Given the description of an element on the screen output the (x, y) to click on. 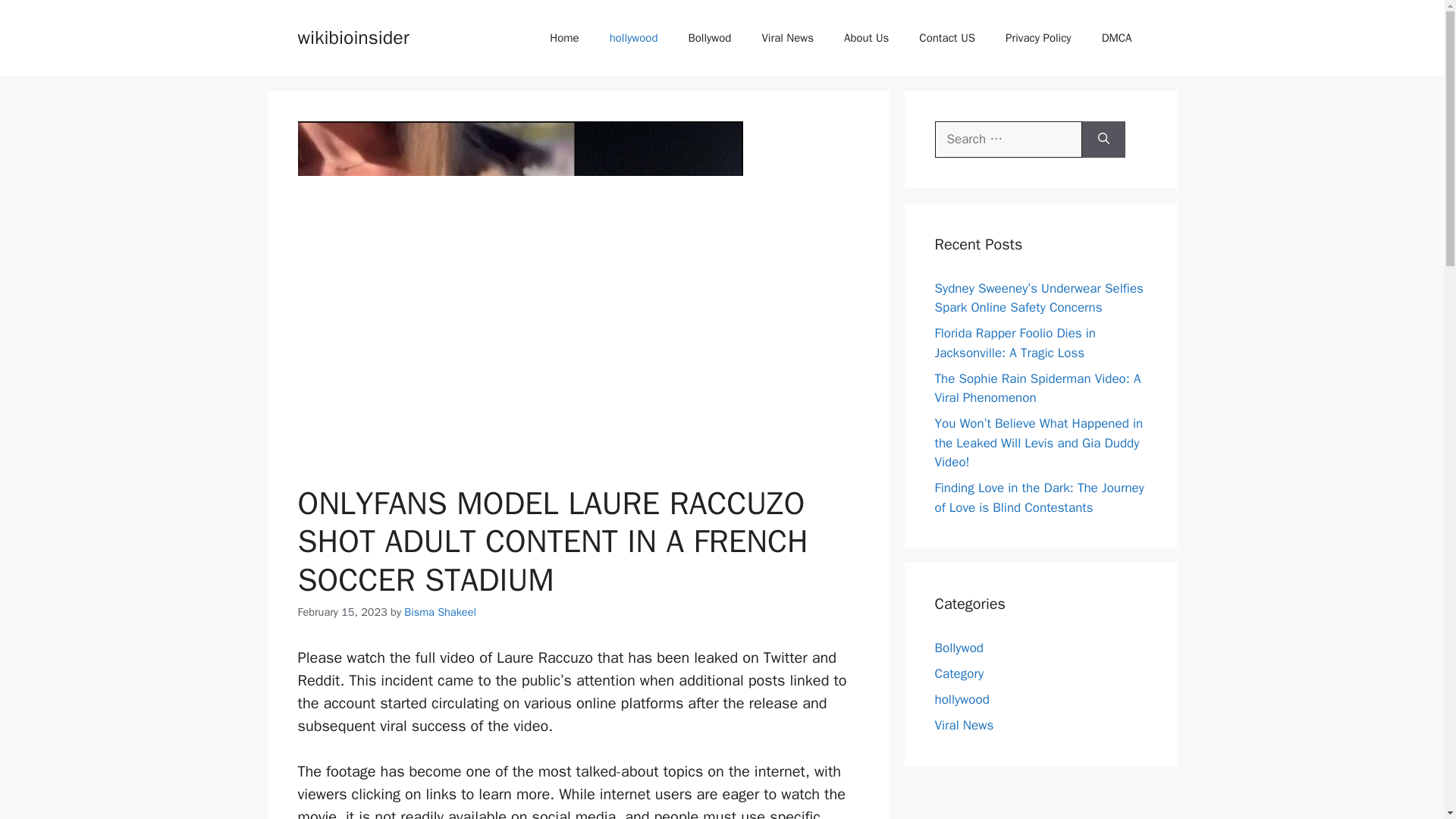
Viral News (786, 37)
Bisma Shakeel (440, 612)
View all posts by Bisma Shakeel (440, 612)
Category (959, 673)
Viral News (963, 725)
wikibioinsider (353, 37)
Florida Rapper Foolio Dies in Jacksonville: A Tragic Loss (1014, 343)
Privacy Policy (1038, 37)
hollywood (961, 699)
hollywood (633, 37)
